Given the description of an element on the screen output the (x, y) to click on. 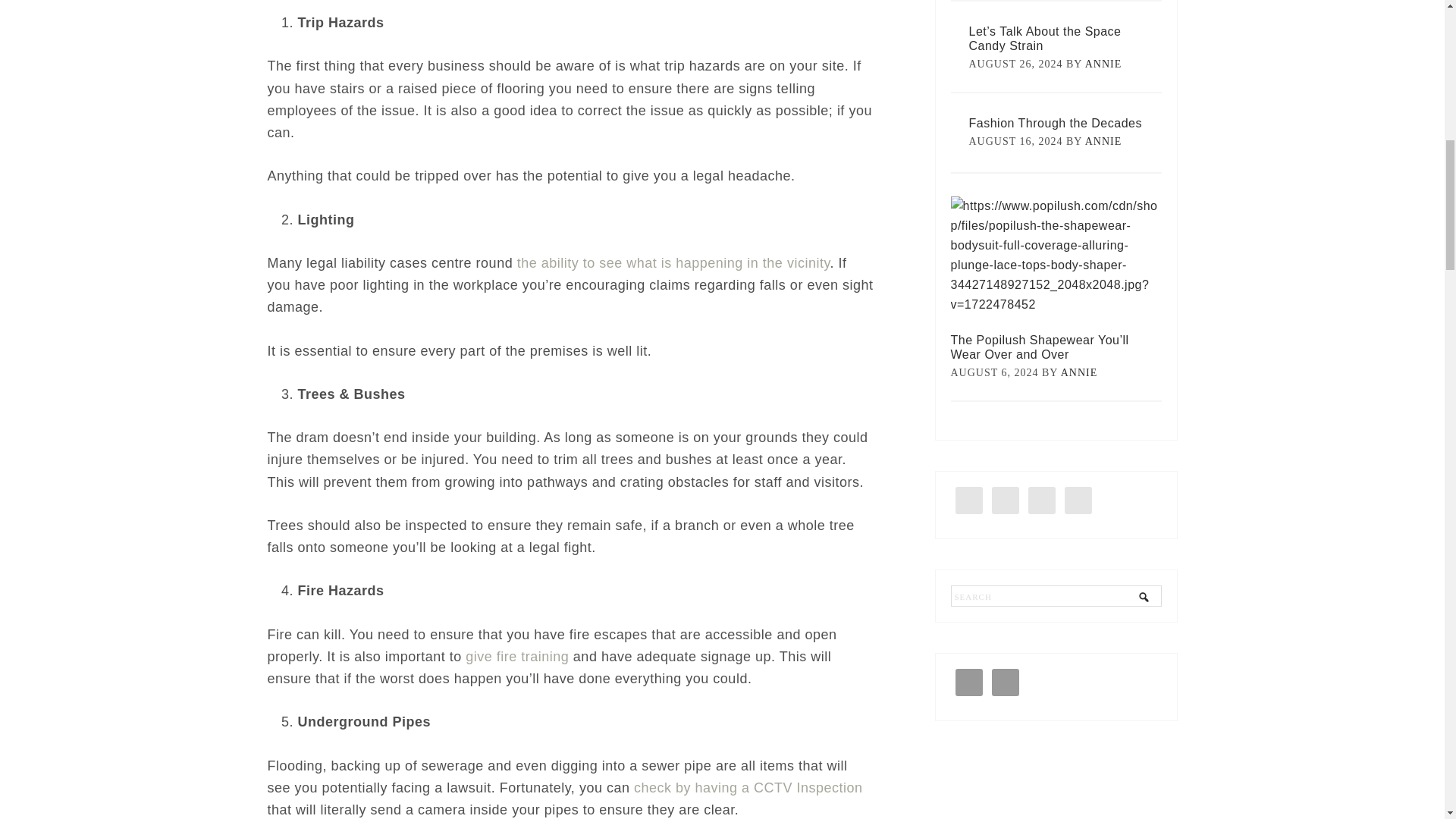
check by having a CCTV Inspection (748, 787)
ANNIE (1103, 63)
ANNIE (1103, 141)
Fashion Through the Decades (1055, 123)
ANNIE (1079, 372)
give fire training (517, 656)
the ability to see what is happening in the vicinity (672, 263)
